Given the description of an element on the screen output the (x, y) to click on. 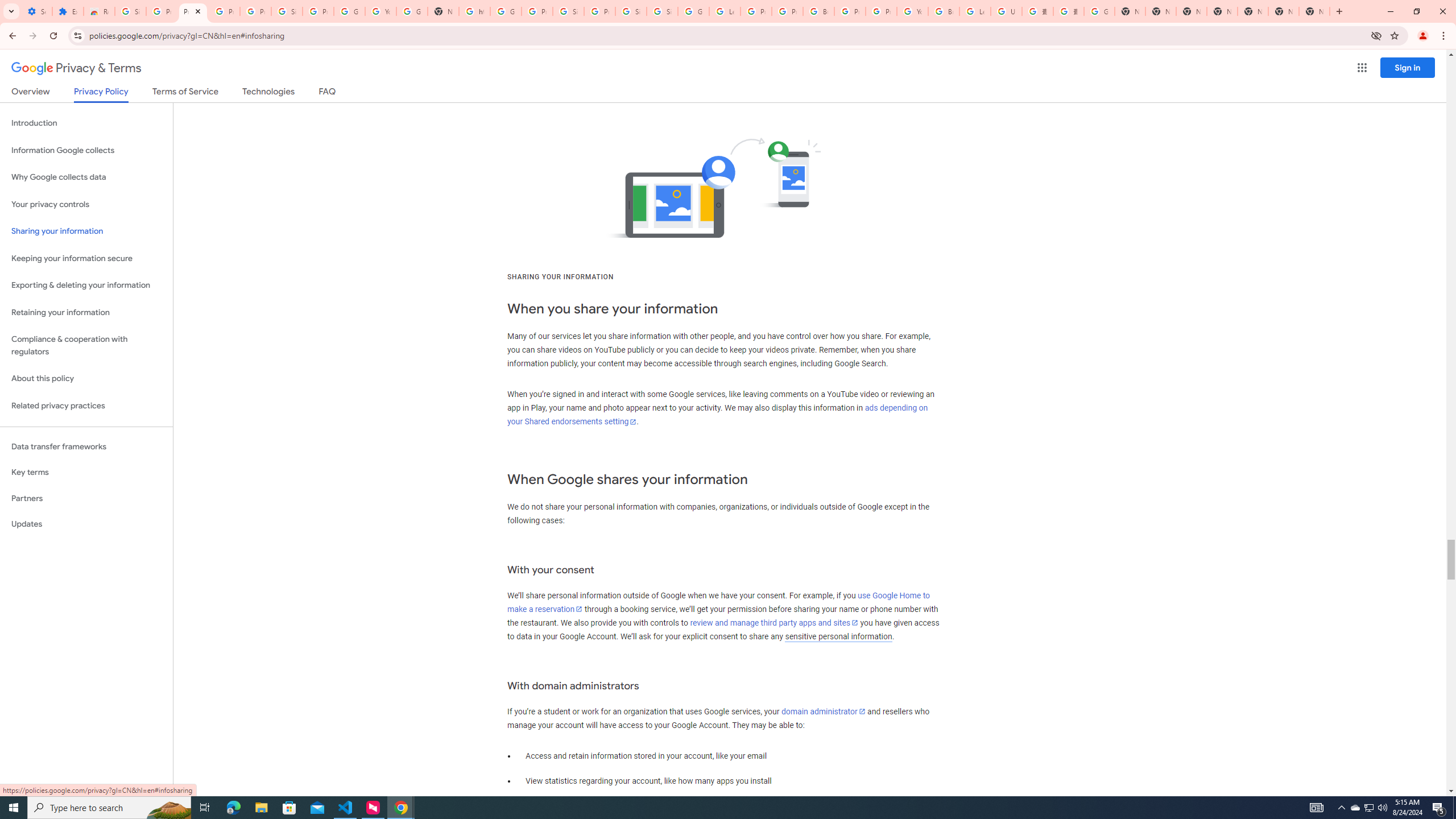
https://scholar.google.com/ (474, 11)
YouTube (912, 11)
